Given the description of an element on the screen output the (x, y) to click on. 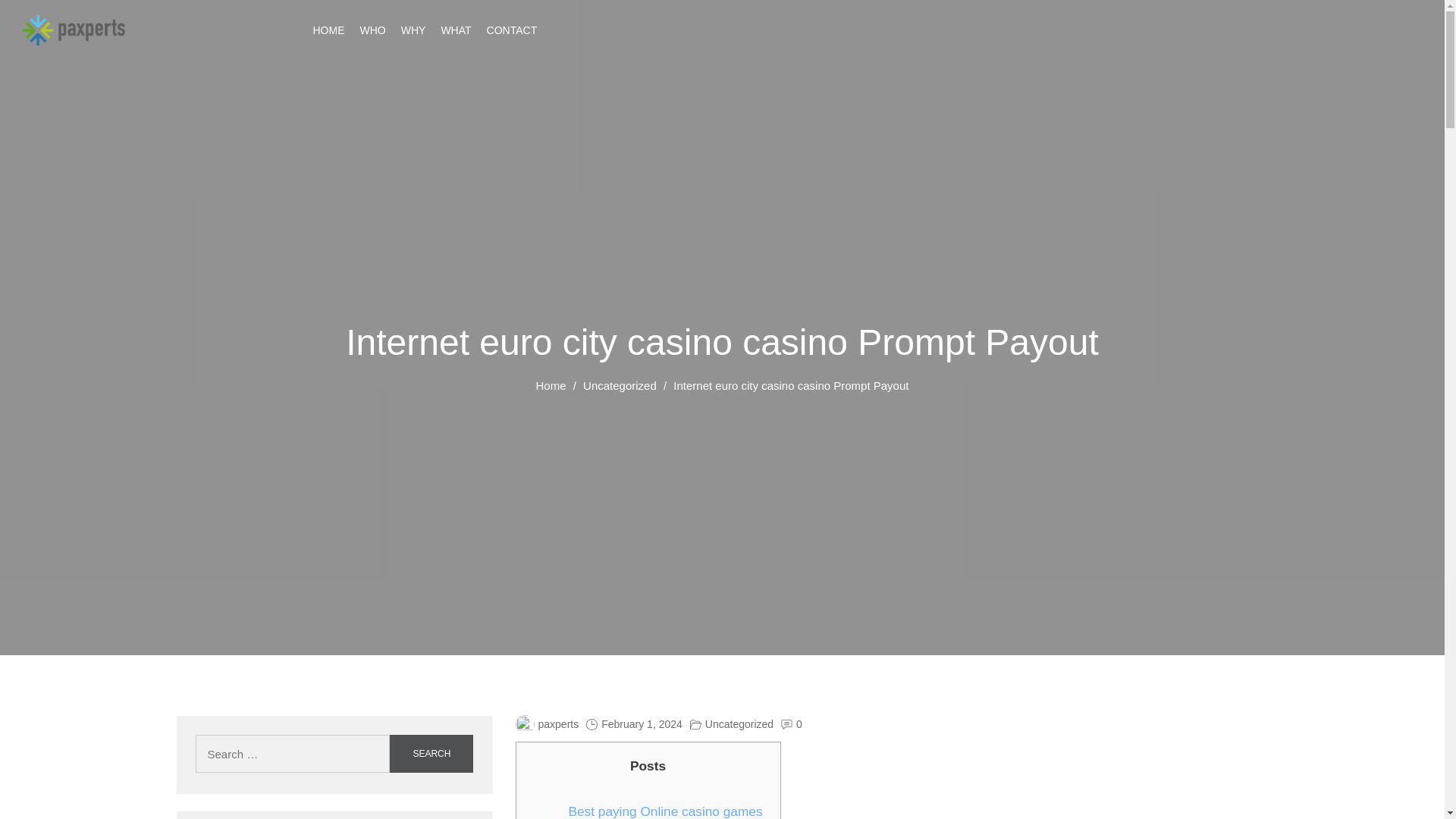
Search (431, 753)
Search (431, 753)
Best paying Online casino games (665, 809)
Uncategorized (738, 724)
WHO (372, 31)
paxperts (58, 58)
HOME (328, 31)
WHY (413, 31)
Home (550, 385)
Uncategorized (619, 385)
Search (431, 753)
WHAT (455, 31)
CONTACT (511, 31)
paxperts (547, 724)
